Given the description of an element on the screen output the (x, y) to click on. 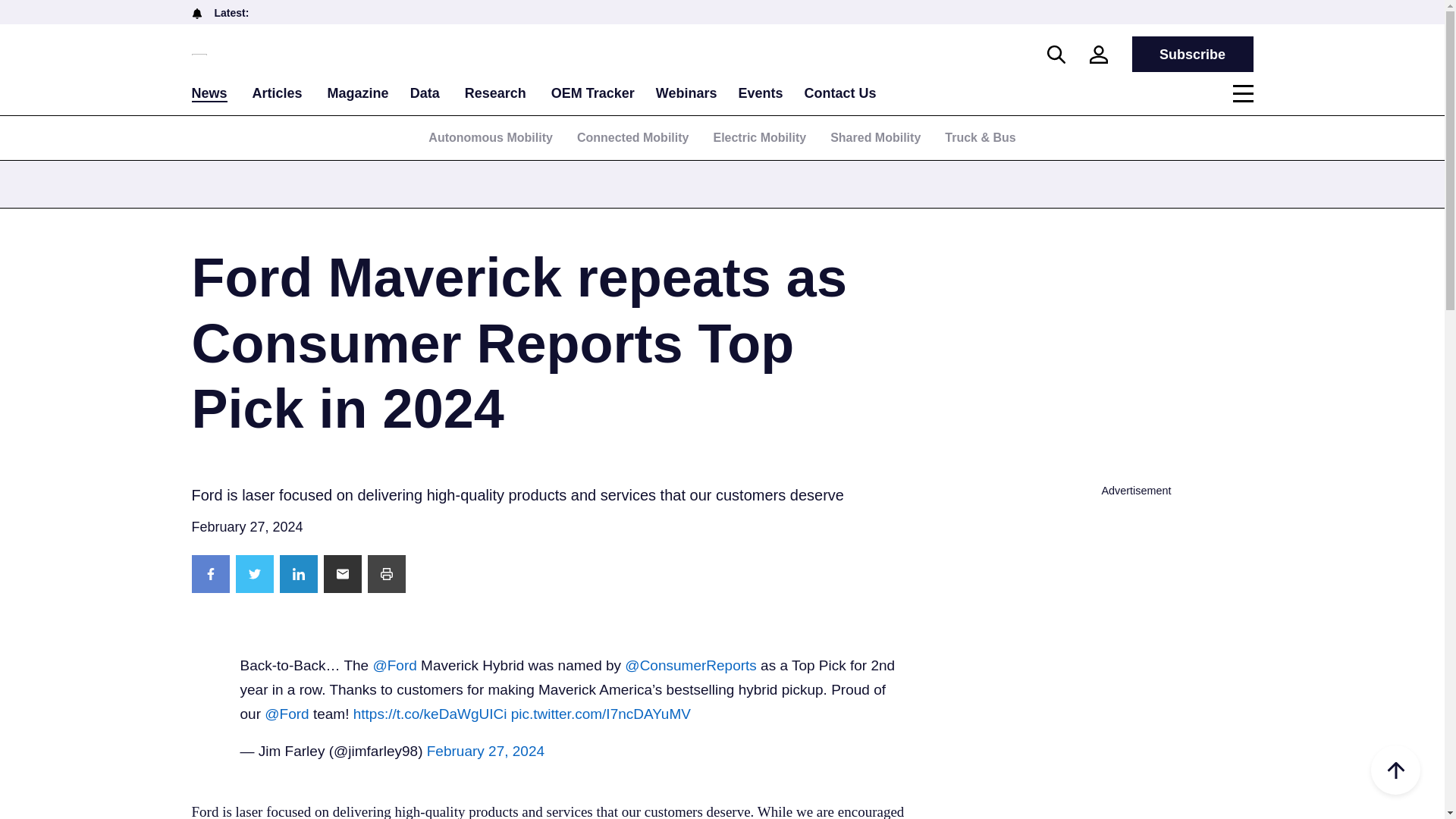
Login (1097, 54)
Log In (781, 304)
News (208, 93)
Shared Mobility (874, 137)
Data (424, 92)
Subscribe (1191, 54)
Electric Mobility (759, 137)
Magazine (357, 92)
Autonomous Mobility (490, 137)
Connected Mobility (632, 137)
